Given the description of an element on the screen output the (x, y) to click on. 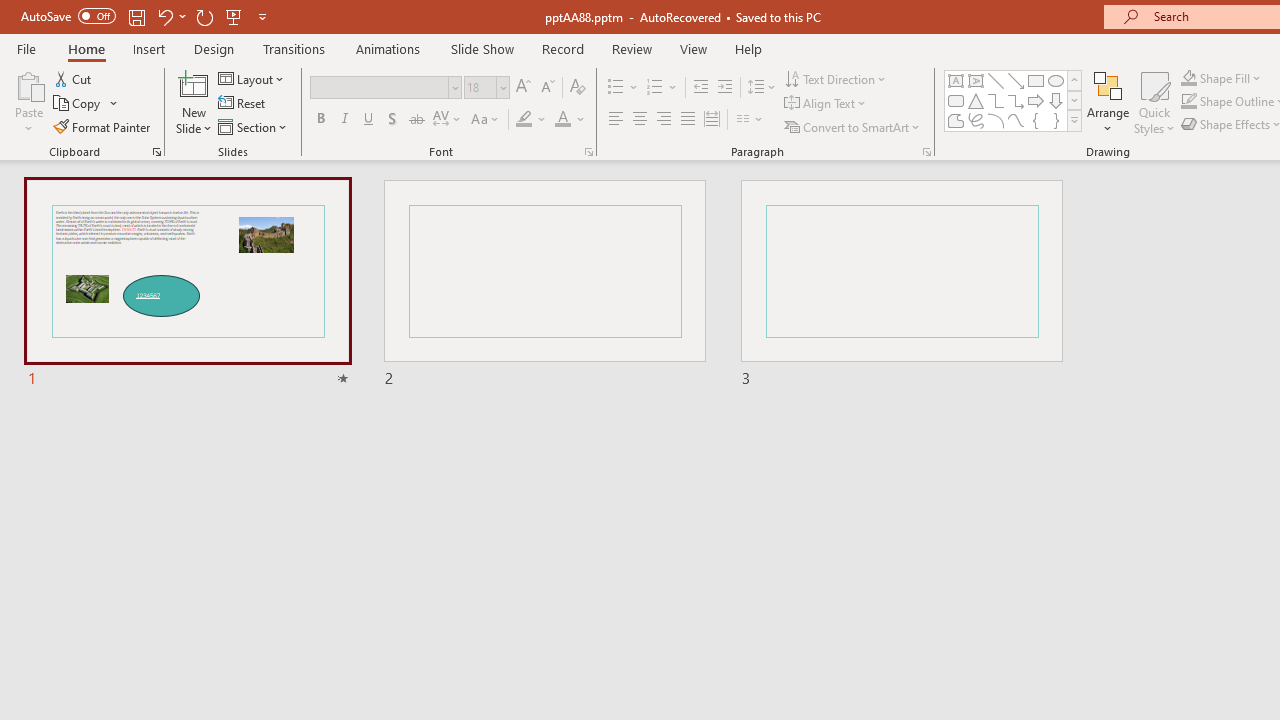
Align Right (663, 119)
Decrease Font Size (547, 87)
Quick Access Toolbar (145, 16)
Text Box (955, 80)
Slide (901, 284)
Increase Indent (725, 87)
Left Brace (1035, 120)
Insert (149, 48)
Review (631, 48)
Shadow (392, 119)
Italic (344, 119)
Animations (388, 48)
Convert to SmartArt (853, 126)
View (693, 48)
